Given the description of an element on the screen output the (x, y) to click on. 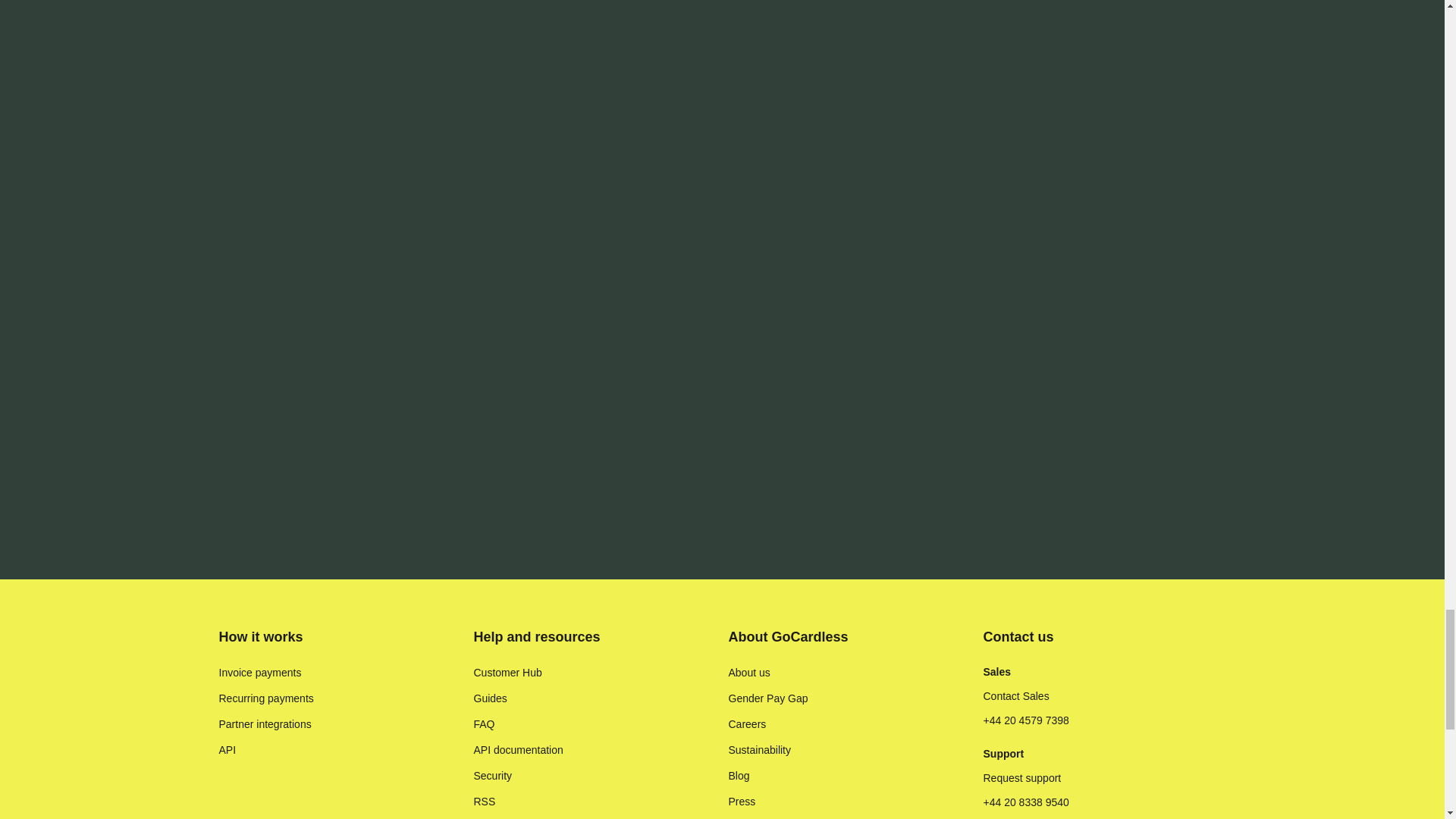
Press (741, 801)
Recurring payments (265, 698)
Partner integrations (264, 724)
Gender Pay Gap (768, 698)
Invoice payments (259, 672)
Careers (746, 724)
Blog (738, 775)
About us (749, 672)
API documentation (517, 749)
API (226, 749)
Guides (489, 698)
Customer Hub (507, 672)
FAQ (484, 724)
Sustainability (759, 749)
RSS (484, 801)
